Given the description of an element on the screen output the (x, y) to click on. 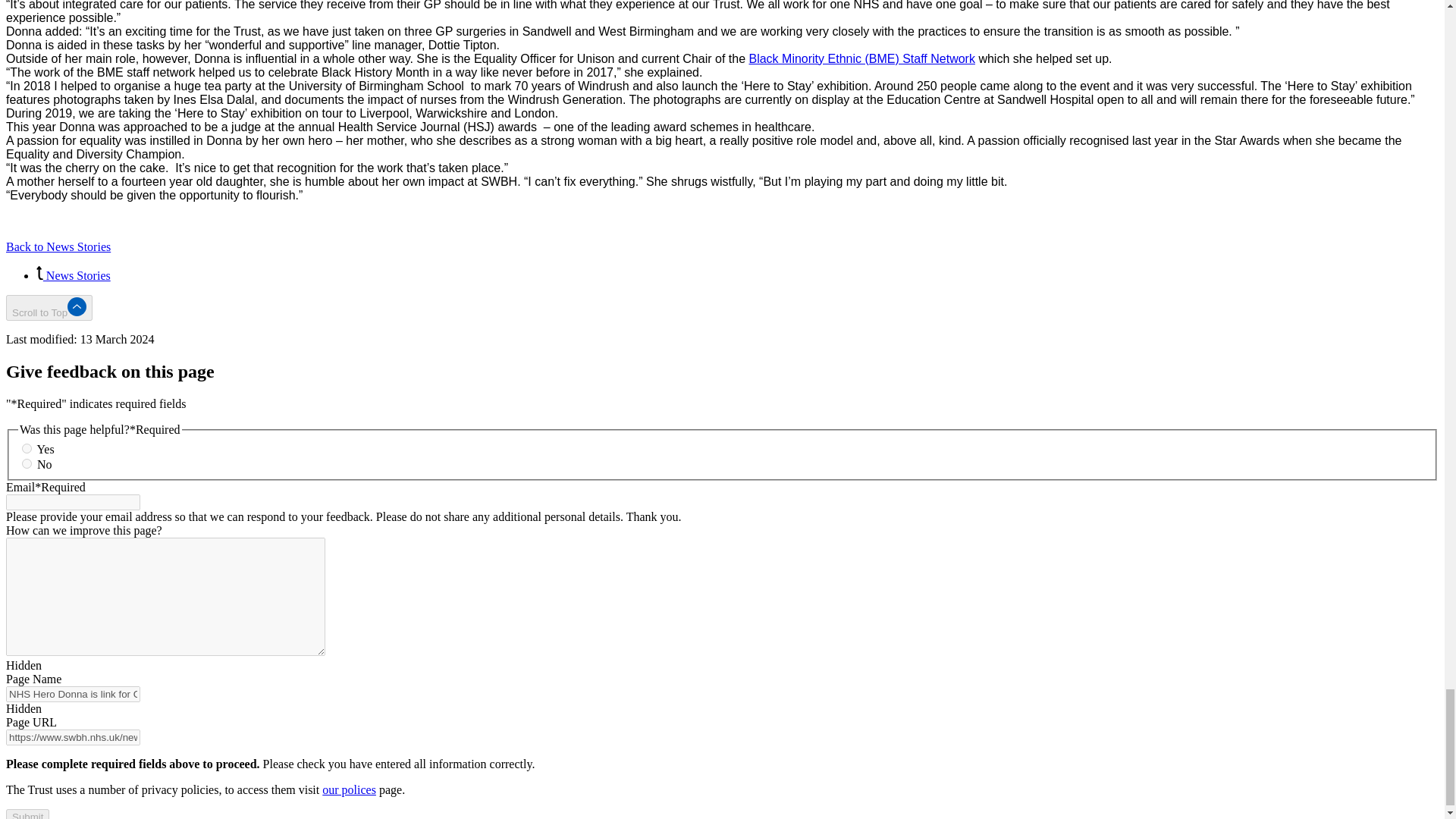
No (26, 463)
Yes (26, 448)
Scroll to Top (49, 307)
NHS Hero Donna is link for GPs (72, 693)
